Given the description of an element on the screen output the (x, y) to click on. 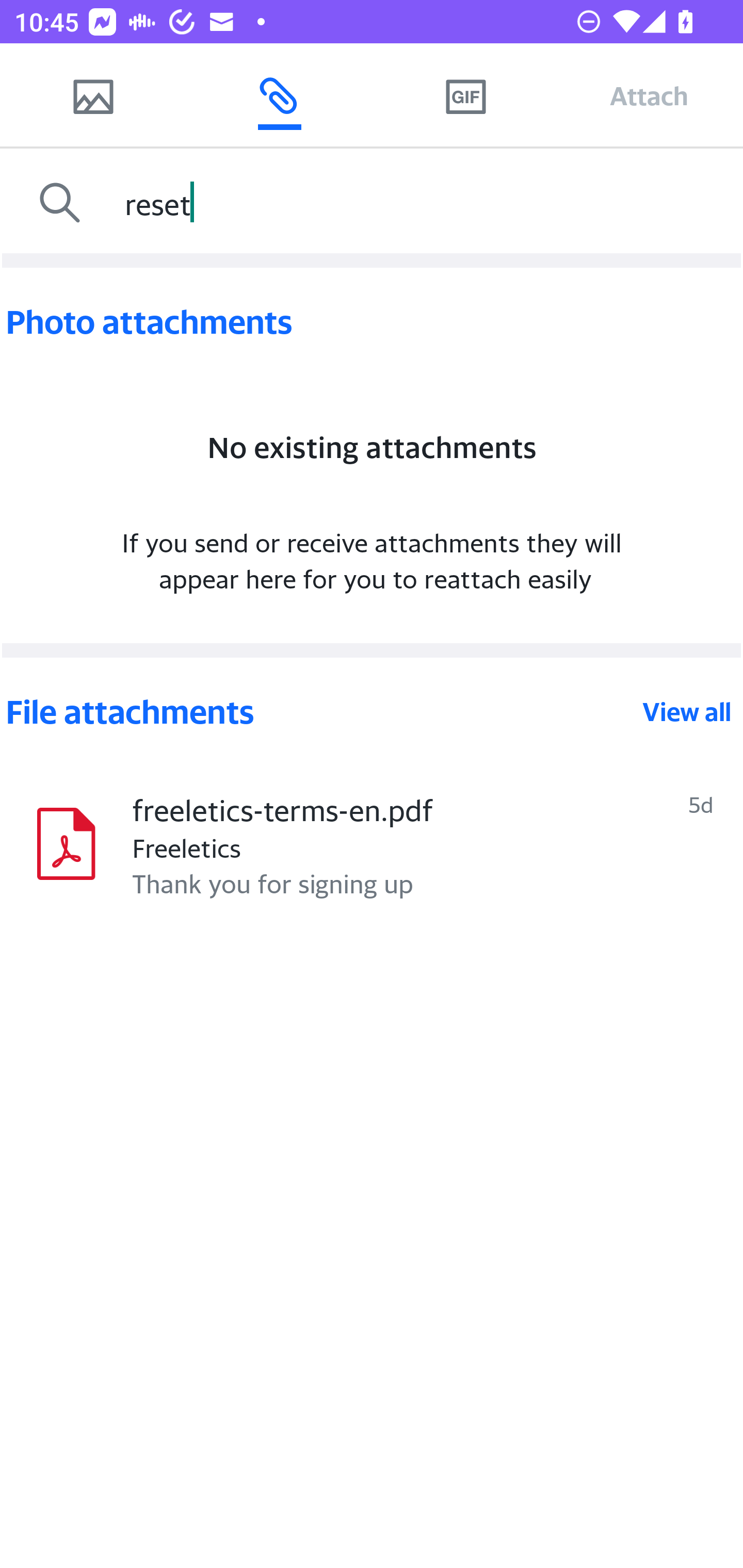
Camera photos (93, 95)
Recent attachments from mail (279, 95)
GIFs (465, 95)
Attach (649, 95)
reset (428, 203)
Photo attachments (371, 322)
File attachments (321, 711)
View all (686, 711)
